Given the description of an element on the screen output the (x, y) to click on. 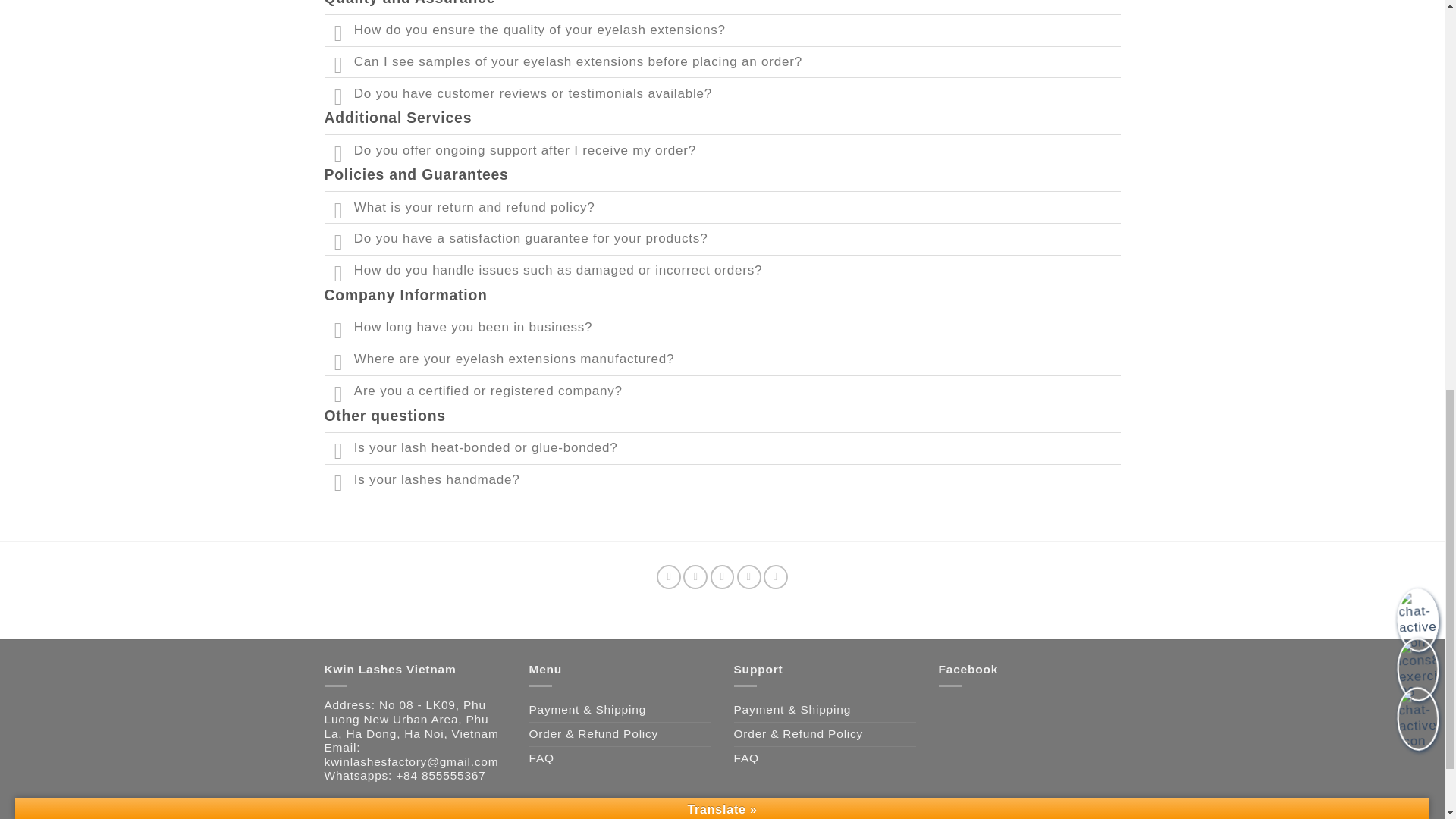
Send us an email (748, 576)
Follow on Twitter (721, 576)
Follow on Facebook (668, 576)
Follow on YouTube (774, 576)
Follow on Instagram (694, 576)
